Given the description of an element on the screen output the (x, y) to click on. 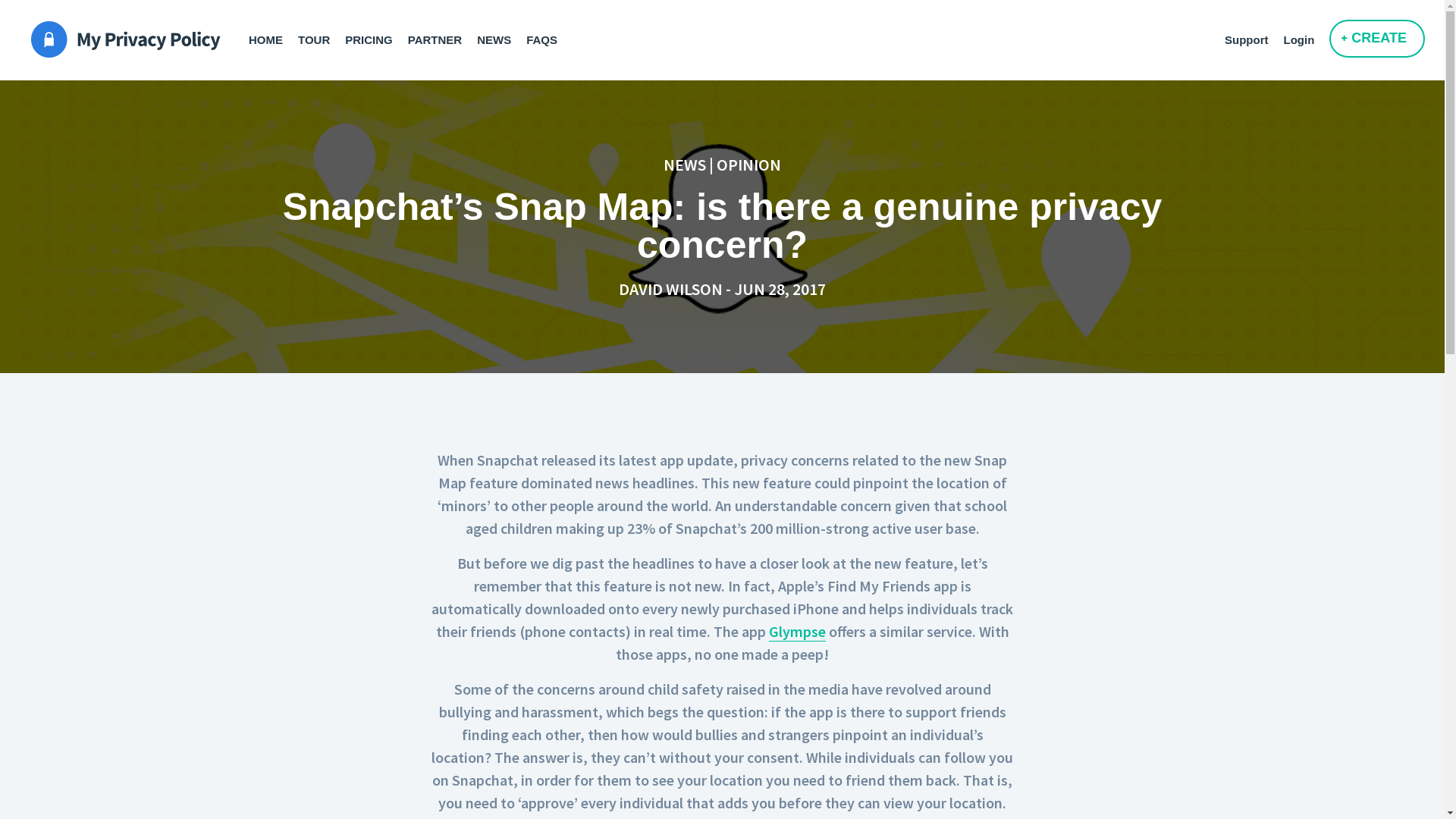
CREATE Element type: text (1376, 38)
FAQS Element type: text (549, 33)
Glympse Element type: text (796, 631)
HOME Element type: text (273, 33)
NEWS Element type: text (501, 33)
Login Element type: text (1306, 33)
PARTNER Element type: text (441, 33)
PRICING Element type: text (376, 33)
TOUR Element type: text (321, 33)
Support Element type: text (1253, 33)
